Given the description of an element on the screen output the (x, y) to click on. 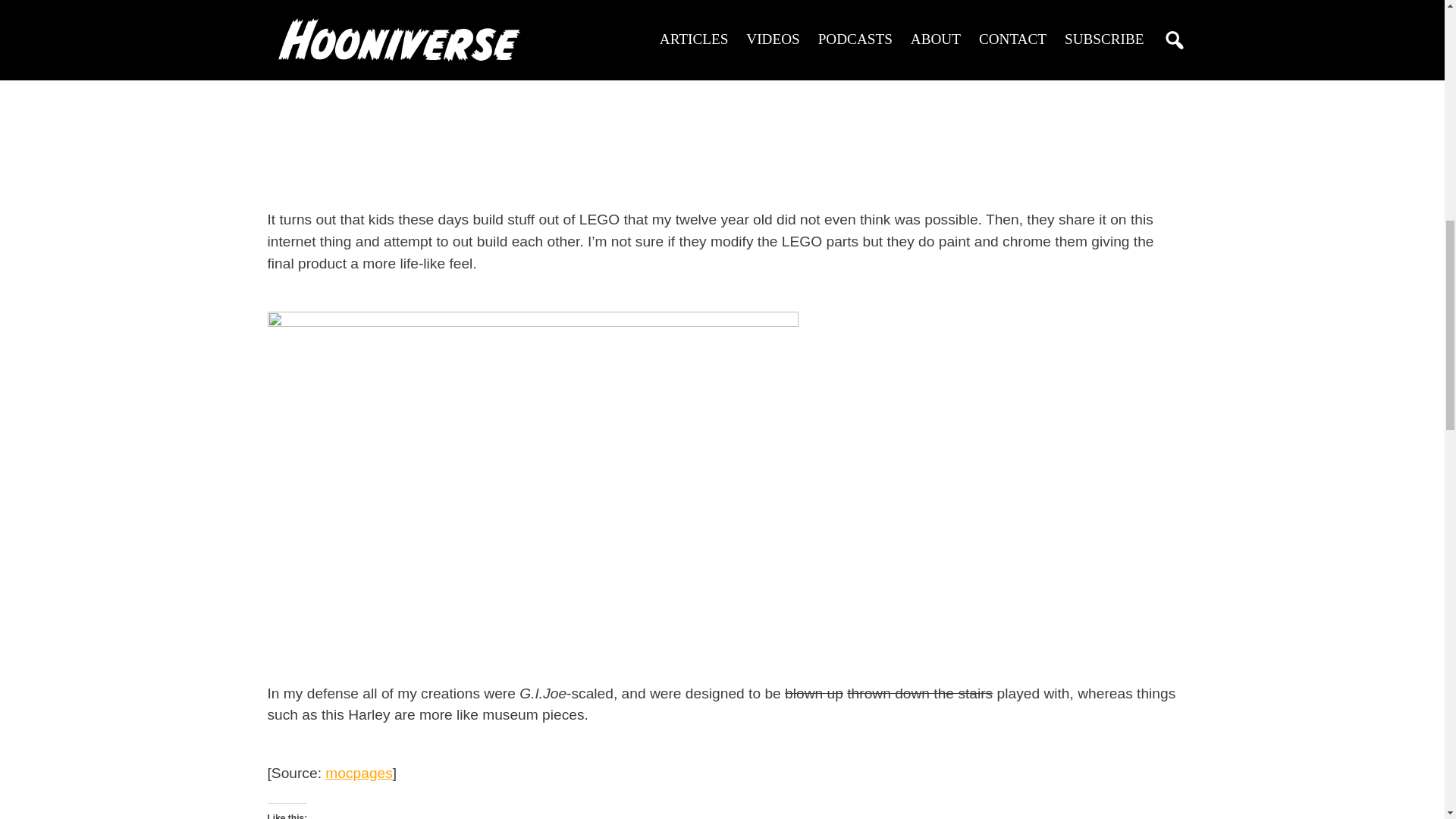
mocpages (358, 772)
lego harley (531, 95)
